Given the description of an element on the screen output the (x, y) to click on. 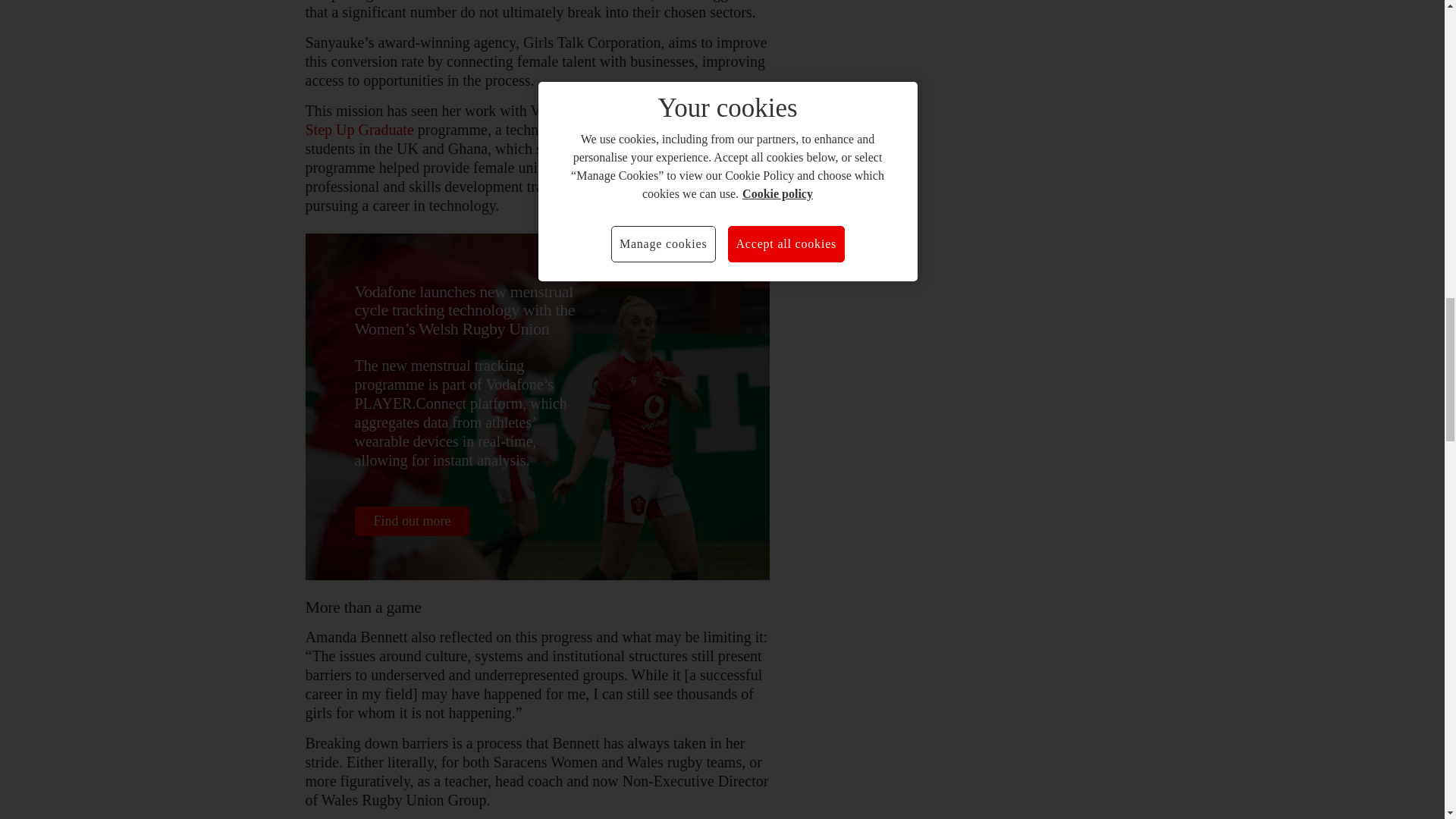
Step Up Graduate (358, 129)
Find out more (412, 521)
